Given the description of an element on the screen output the (x, y) to click on. 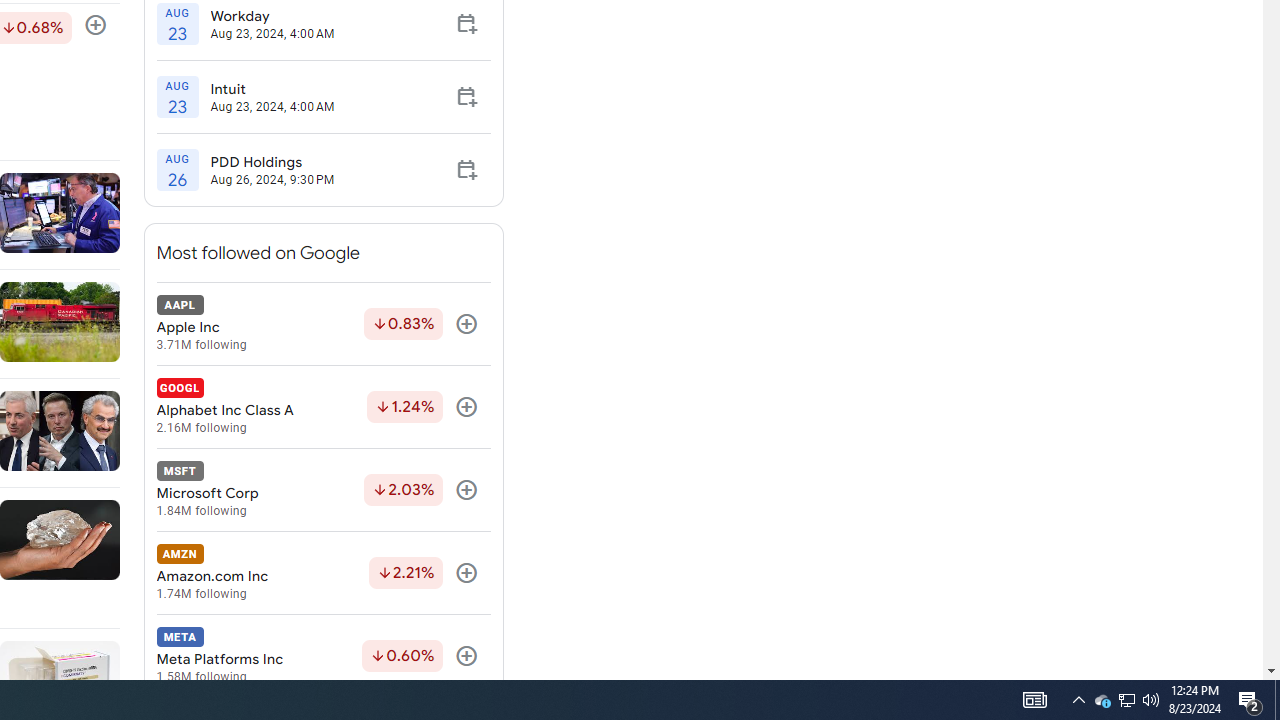
Intuit (272, 89)
Follow (466, 656)
META Meta Platforms Inc 1.58M following Down by 0.60% Follow (323, 655)
AAPL Apple Inc 3.71M following Down by 0.83% Follow (323, 323)
PDD Holdings (272, 161)
Workday (272, 15)
Add to calendar (466, 169)
AMZN Amazon.com Inc 1.74M following Down by 2.21% Follow (323, 573)
MSFT Microsoft Corp 1.84M following Down by 2.03% Follow (323, 490)
